Given the description of an element on the screen output the (x, y) to click on. 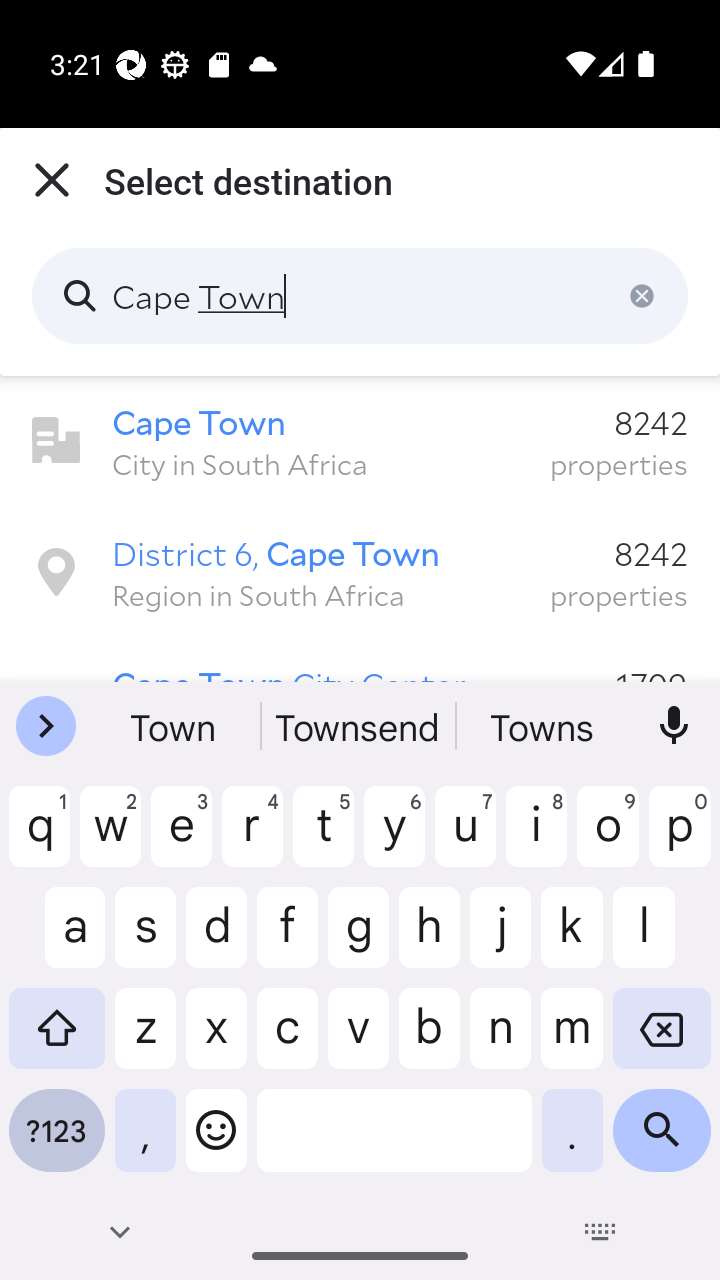
Cape Town (359, 296)
Cape Town 8242 City in South Africa properties (360, 441)
